Given the description of an element on the screen output the (x, y) to click on. 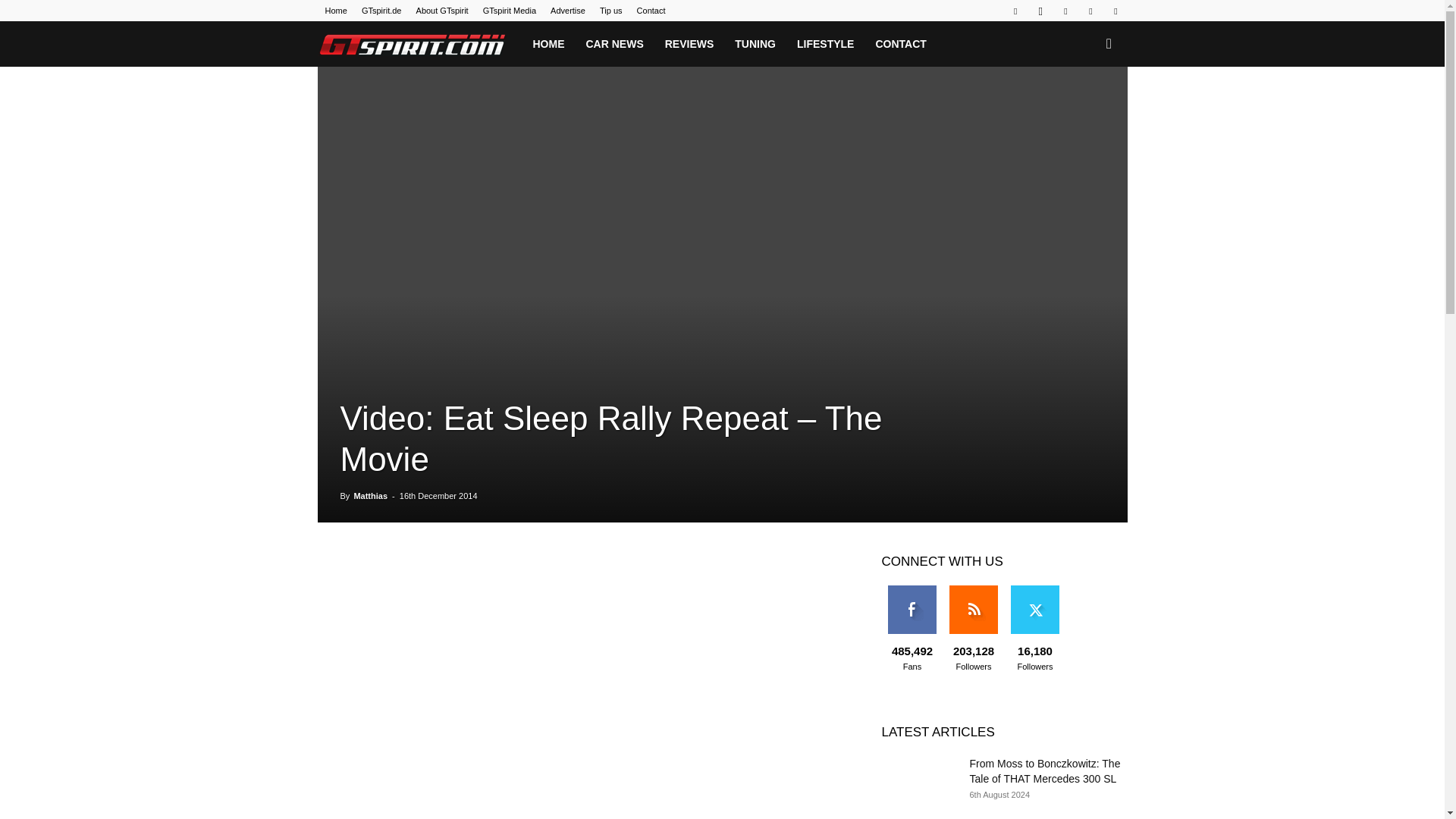
LIFESTYLE (825, 43)
GTspirit (411, 44)
Advertise (567, 10)
Facebook (1015, 10)
Matthias (370, 495)
GTspirit.de (381, 10)
Search (1085, 109)
CONTACT (900, 43)
Tip us (611, 10)
REVIEWS (689, 43)
